Given the description of an element on the screen output the (x, y) to click on. 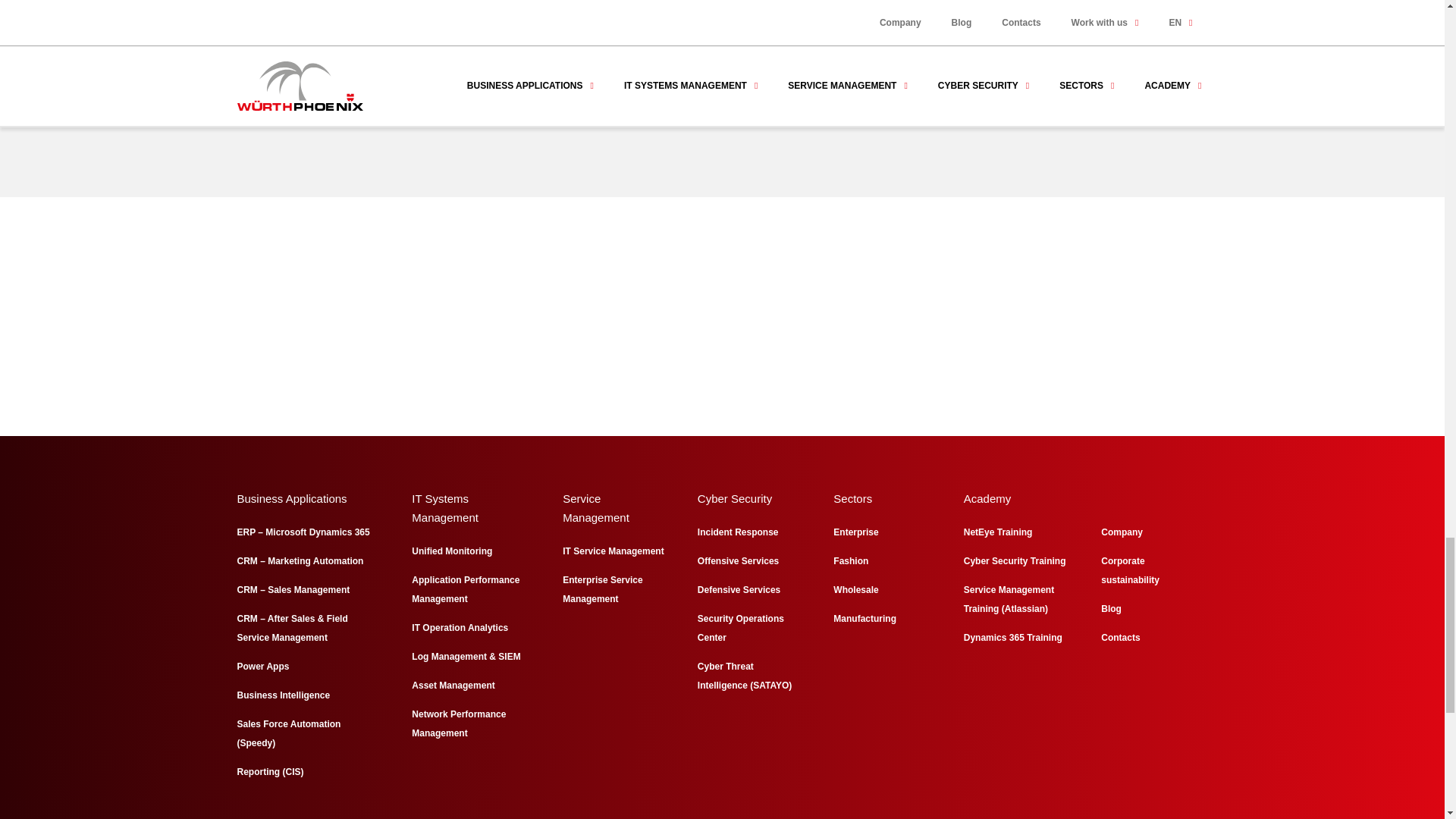
SUBSCRIBE (921, 80)
